Given the description of an element on the screen output the (x, y) to click on. 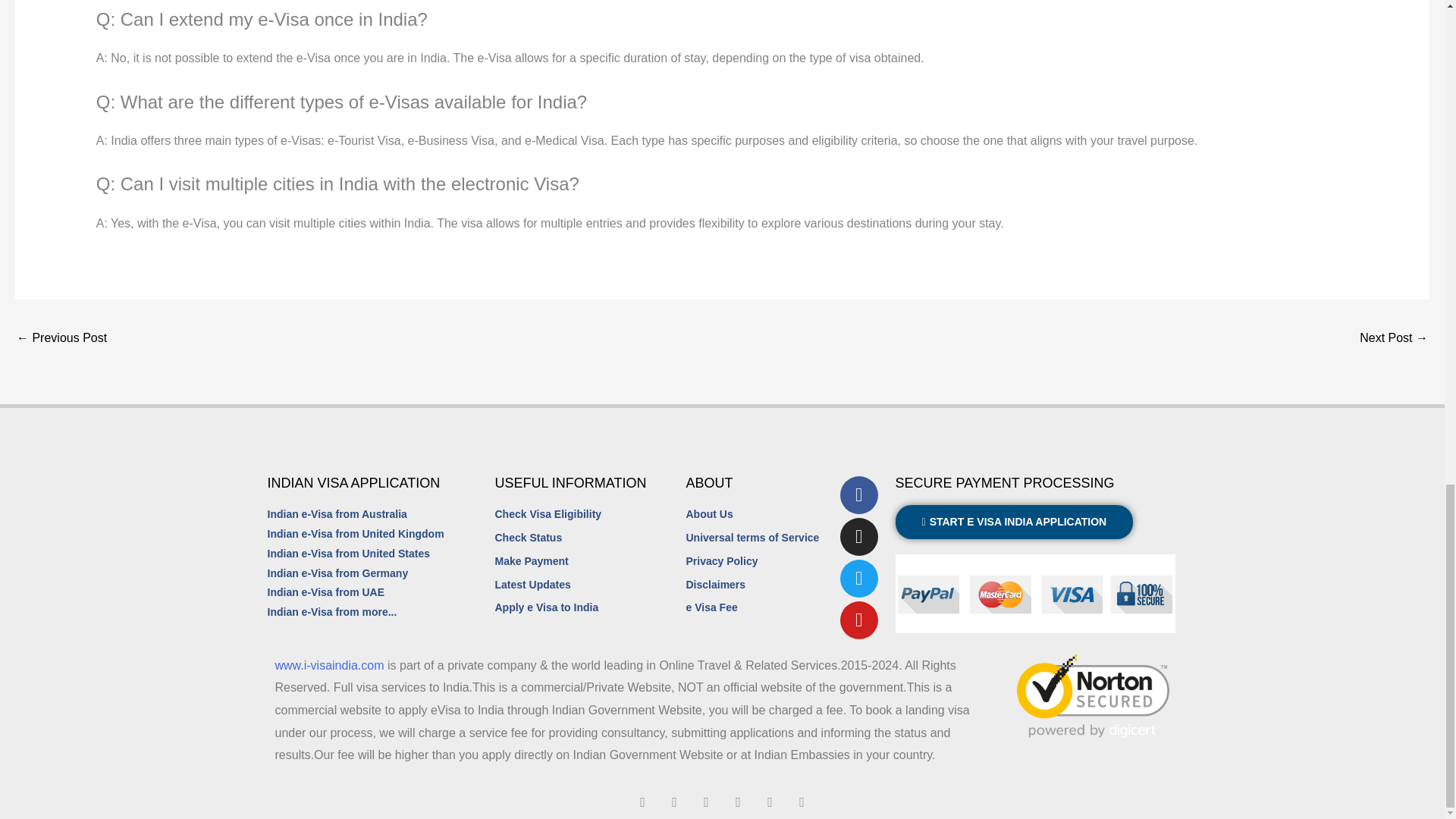
Indian e-Visa from United Kingdom (355, 534)
What is Required for e-Visa in India? (1393, 338)
Latest Updates (590, 585)
Indian e-Visa from Germany (336, 573)
Indian e-Visa from Australia (336, 514)
Indian e-Visa from United States (347, 554)
Make Payment (590, 561)
Indian e-Visa from UAE (325, 592)
Apply e Visa to India (590, 608)
Is e-Visa Still Available for India? (61, 338)
